Given the description of an element on the screen output the (x, y) to click on. 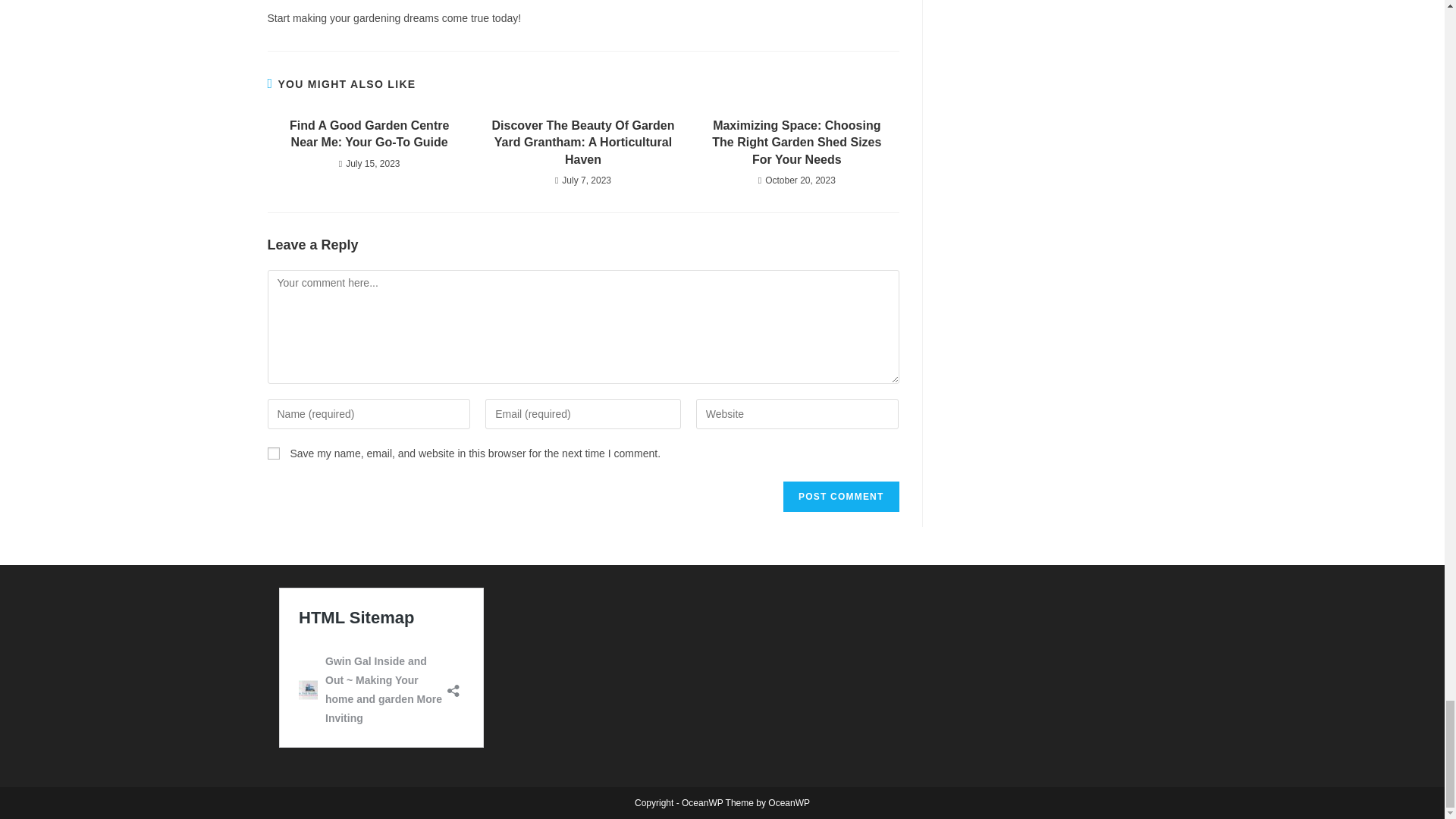
Post Comment (840, 496)
yes (272, 453)
Post Comment (840, 496)
Find A Good Garden Centre Near Me: Your Go-To Guide (368, 134)
